Given the description of an element on the screen output the (x, y) to click on. 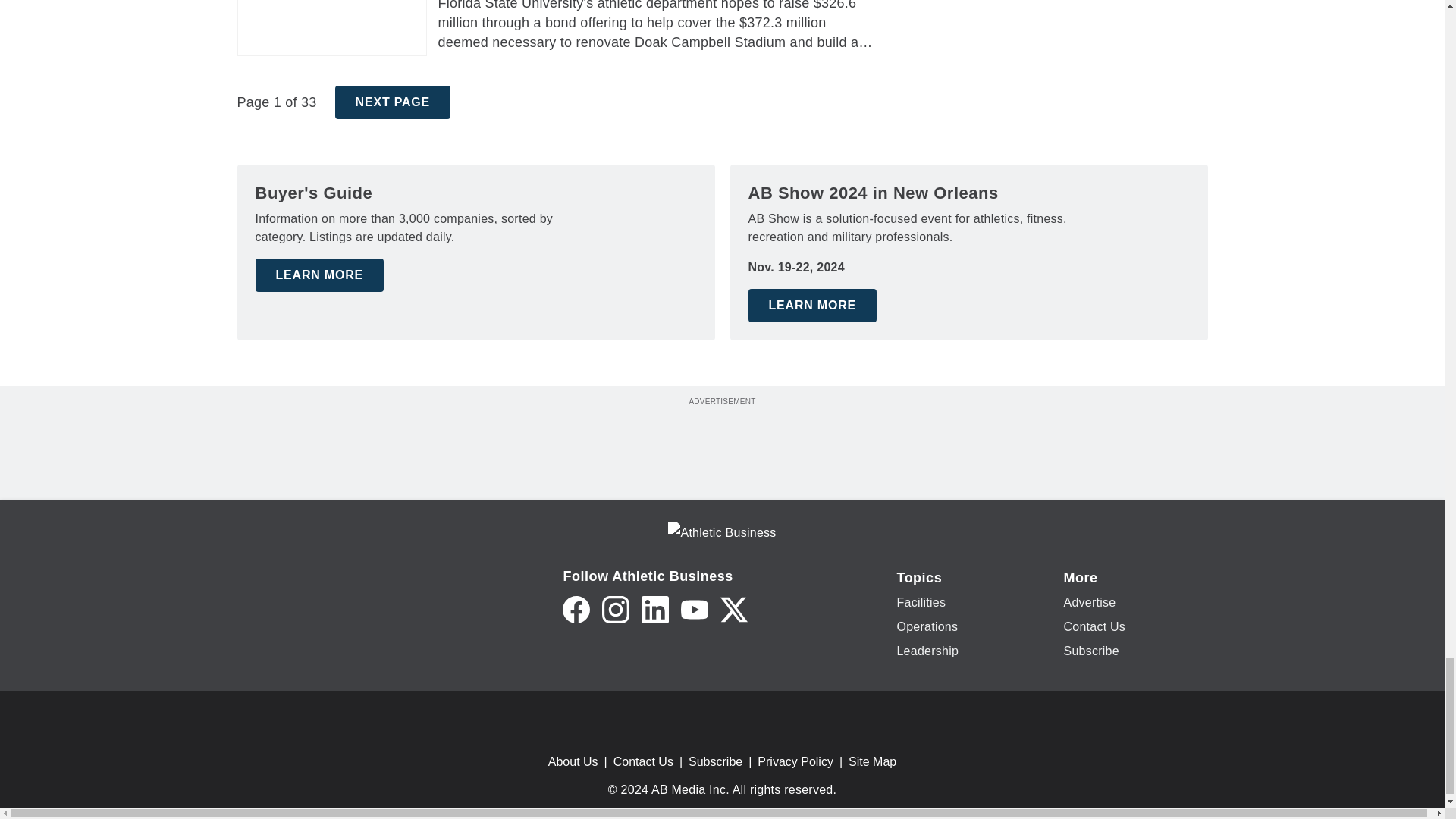
Instagram icon (615, 609)
Twitter X icon (734, 609)
Facebook icon (575, 609)
LinkedIn icon (655, 609)
YouTube icon (694, 609)
